Given the description of an element on the screen output the (x, y) to click on. 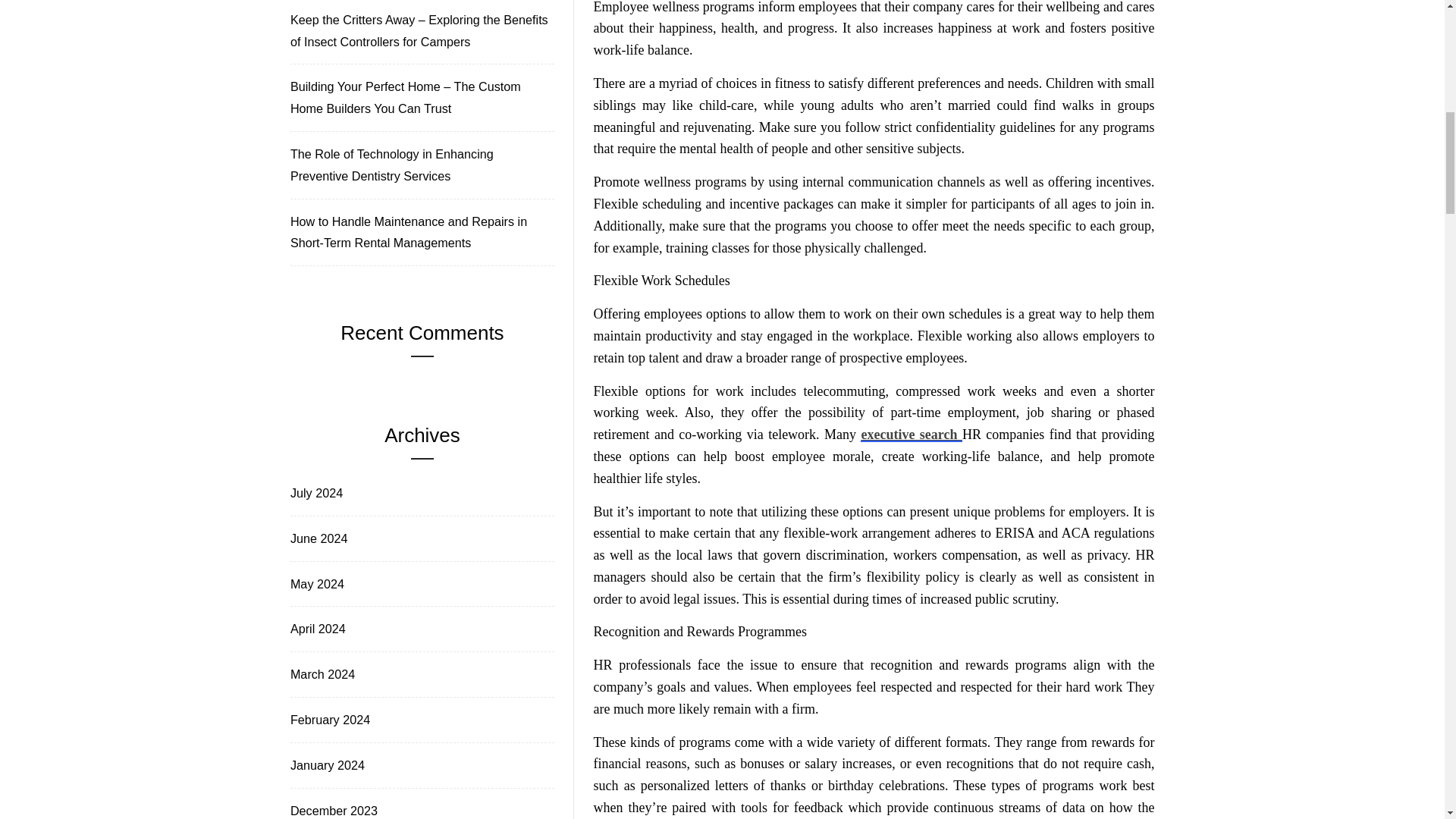
March 2024 (320, 674)
December 2023 (332, 809)
May 2024 (314, 584)
February 2024 (328, 720)
July 2024 (314, 493)
executive search (910, 434)
June 2024 (316, 538)
January 2024 (325, 765)
